Given the description of an element on the screen output the (x, y) to click on. 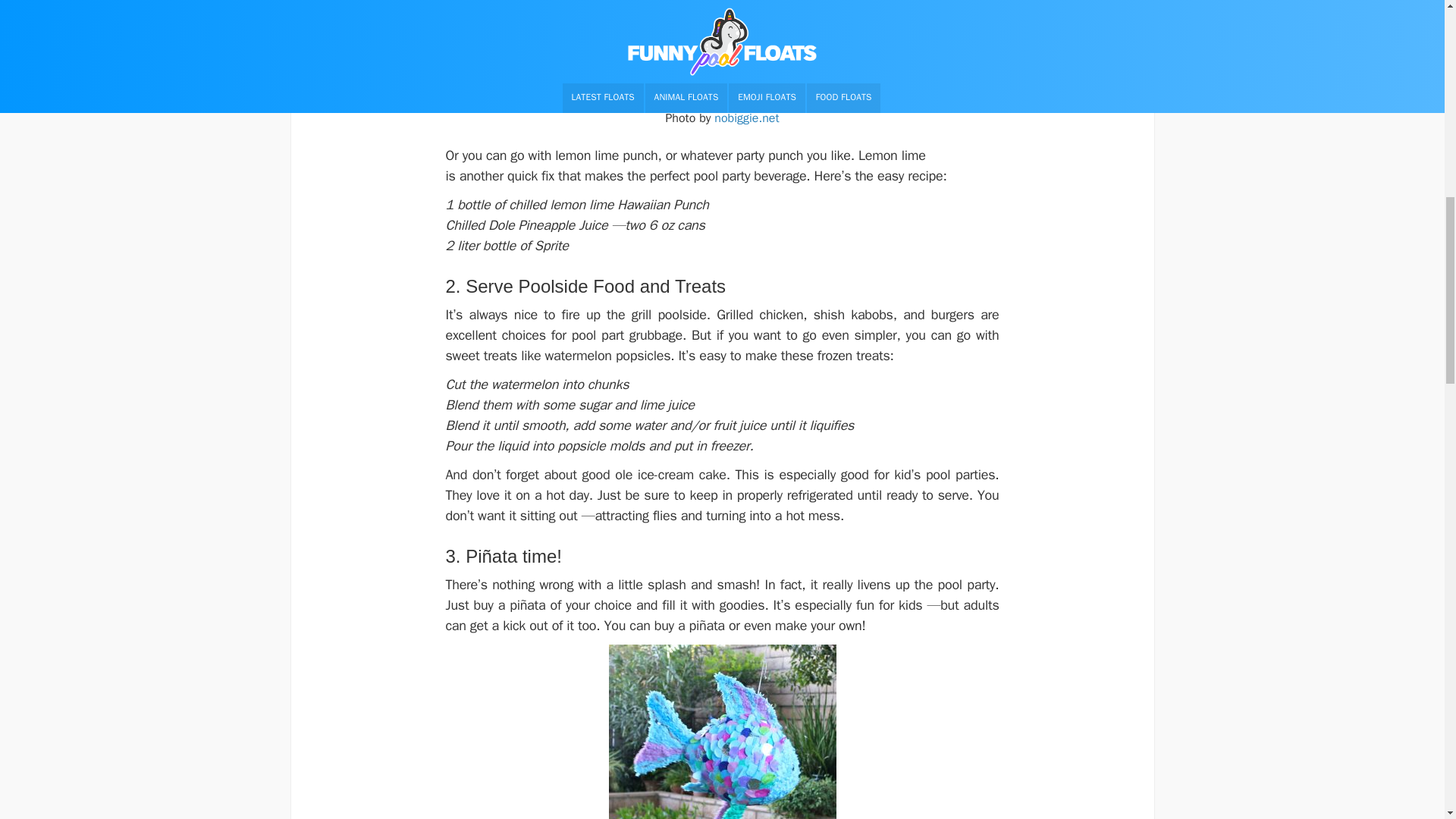
nobiggie.net (746, 118)
